Given the description of an element on the screen output the (x, y) to click on. 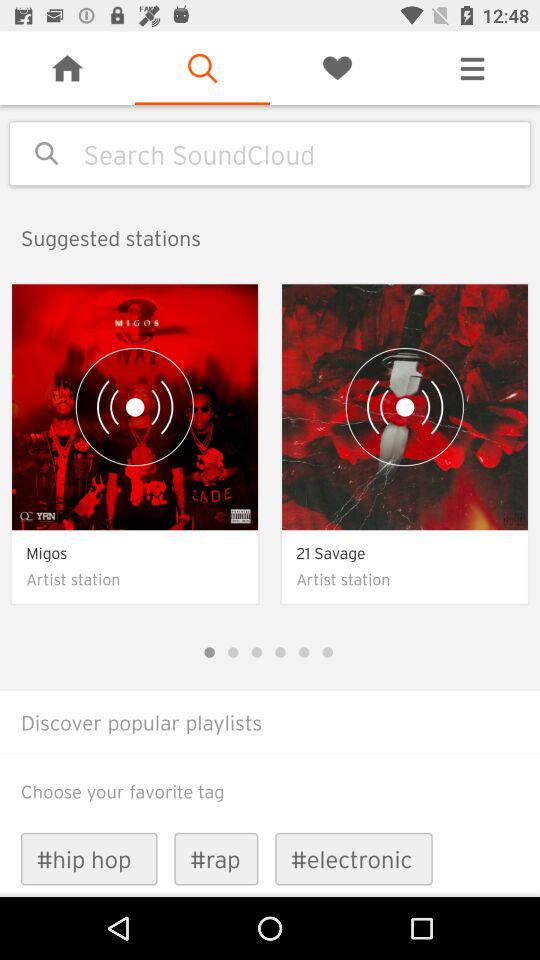
scroll until the #hip hop item (88, 858)
